Given the description of an element on the screen output the (x, y) to click on. 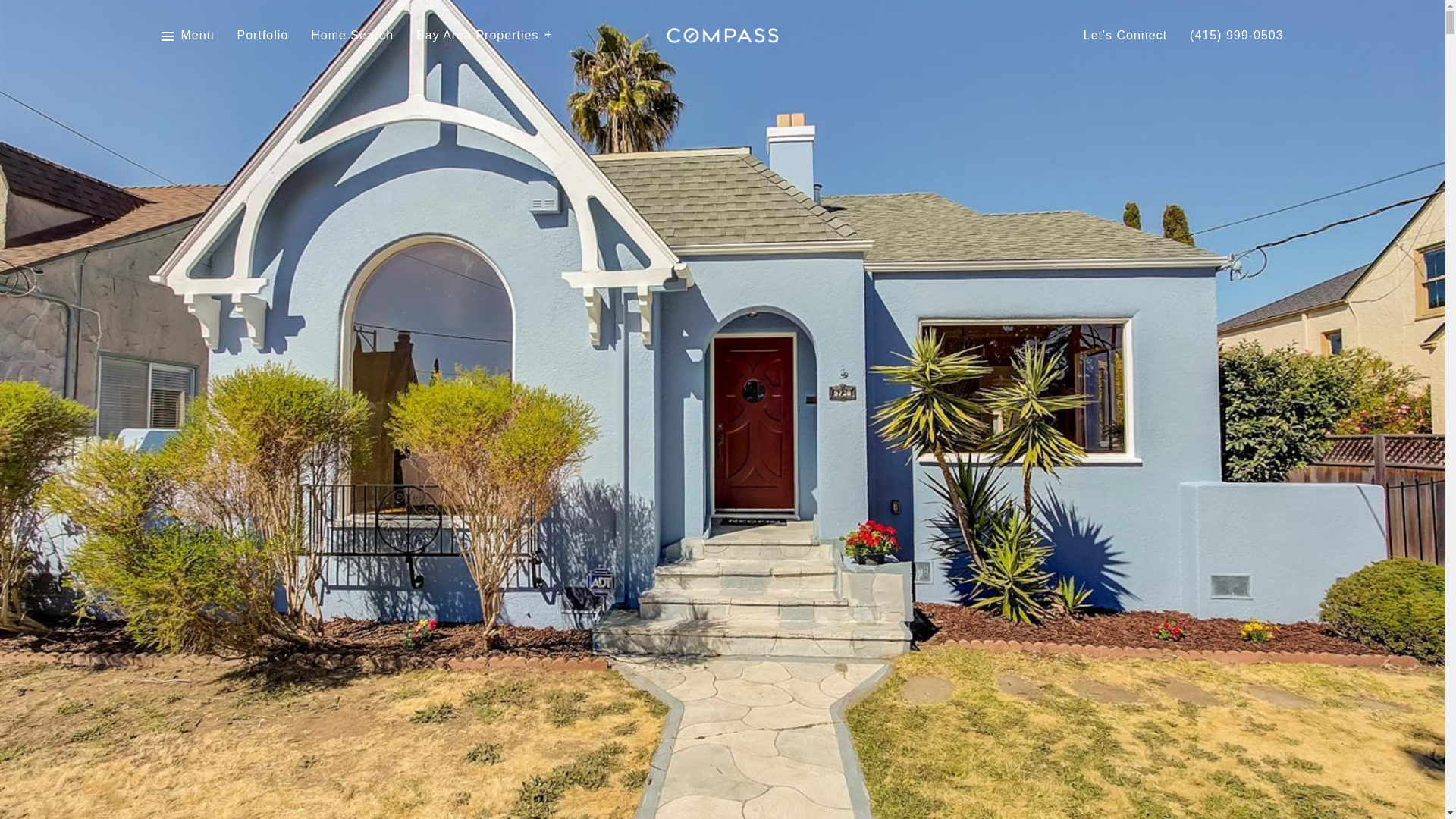
Bay Area Properties (484, 35)
Menu (197, 35)
Portfolio (262, 35)
Home Search (352, 35)
Menu (187, 35)
Let'S Connect (1125, 35)
